Given the description of an element on the screen output the (x, y) to click on. 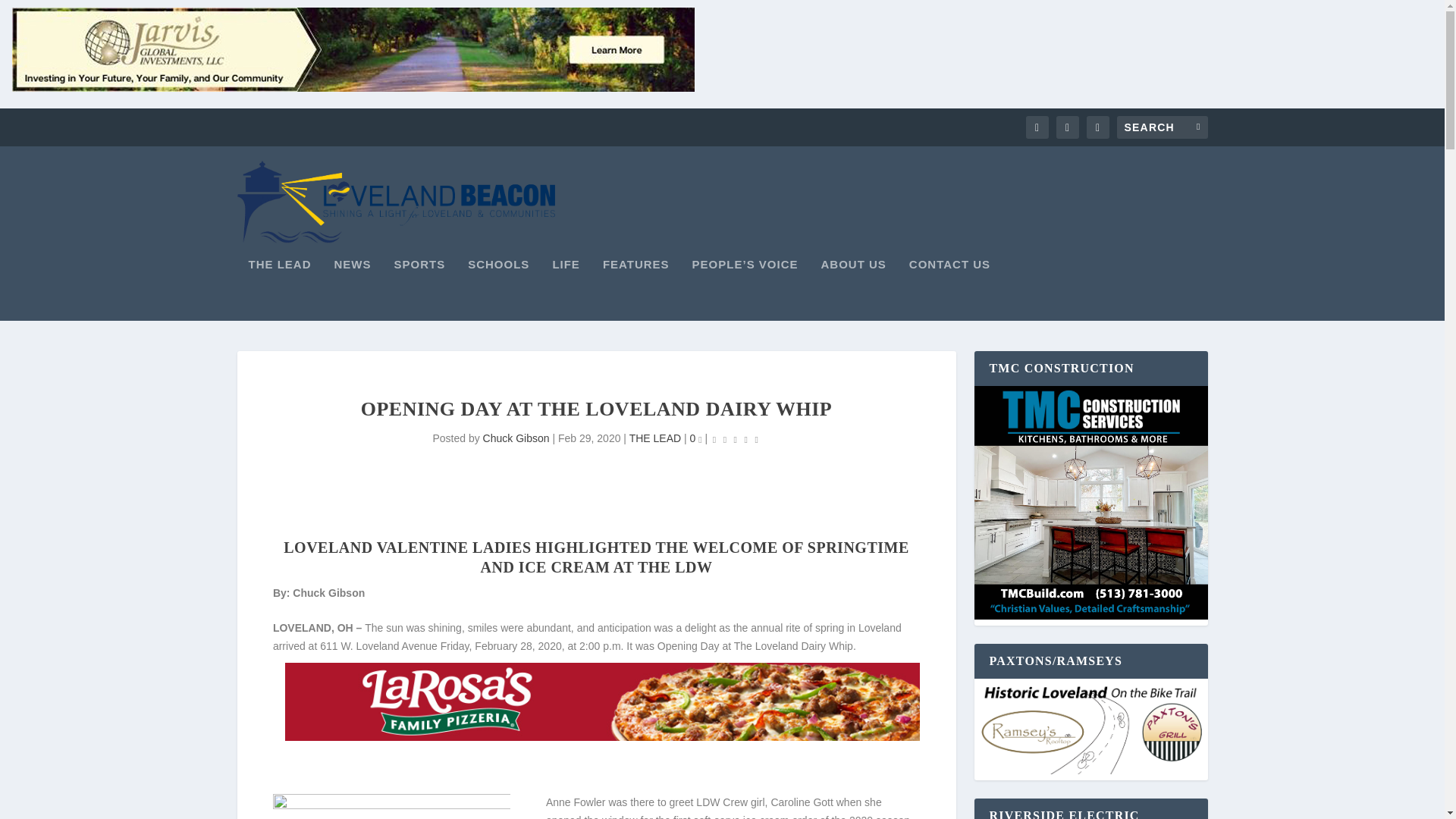
Posts by Chuck Gibson (516, 438)
0 (695, 438)
CONTACT US (949, 289)
FEATURES (635, 289)
SCHOOLS (498, 289)
Rating: 0.00 (735, 438)
ABOUT US (853, 289)
Chuck Gibson (516, 438)
THE LEAD (654, 438)
THE LEAD (279, 289)
